Given the description of an element on the screen output the (x, y) to click on. 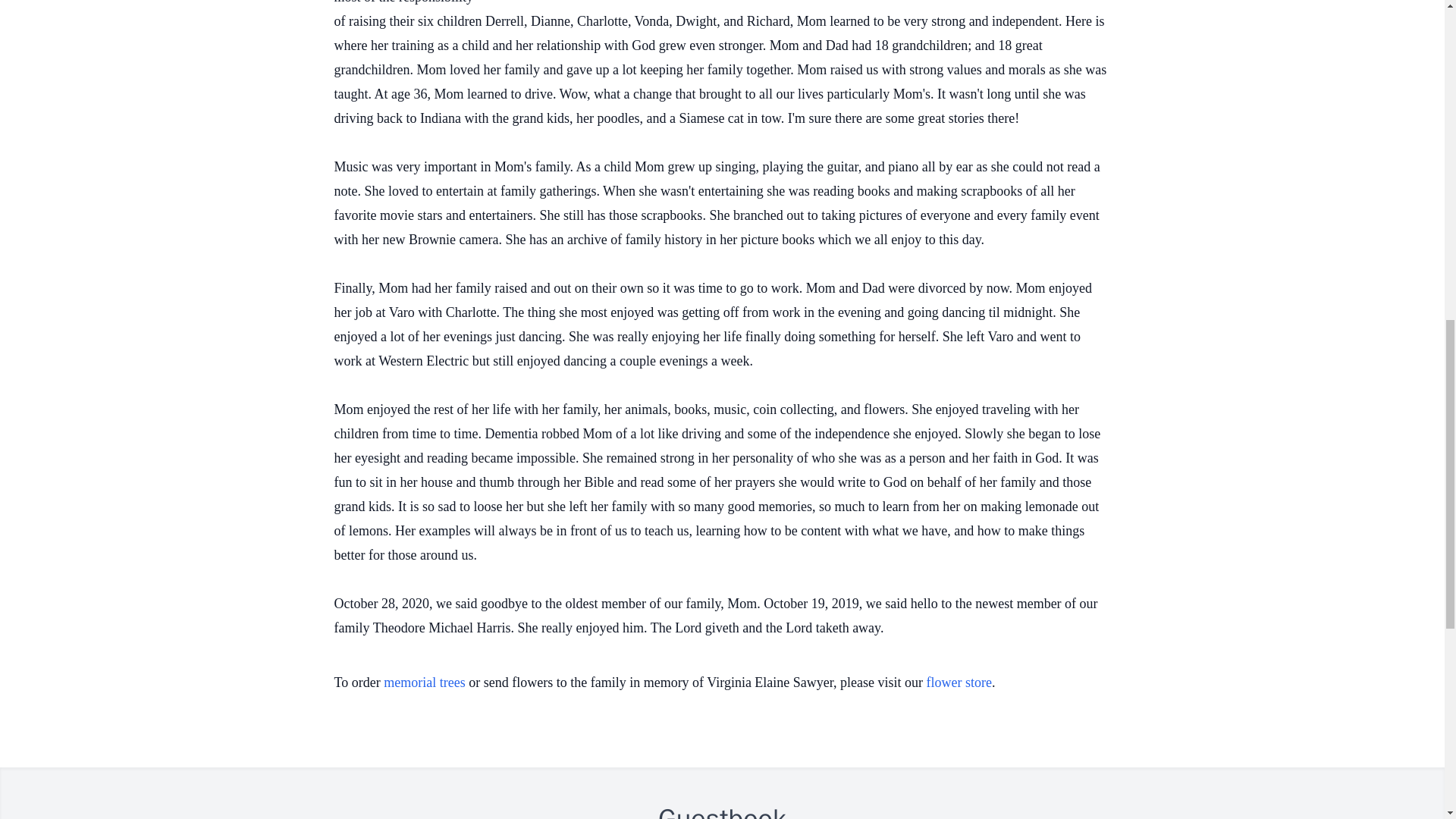
flower store (958, 682)
memorial trees (424, 682)
